Given the description of an element on the screen output the (x, y) to click on. 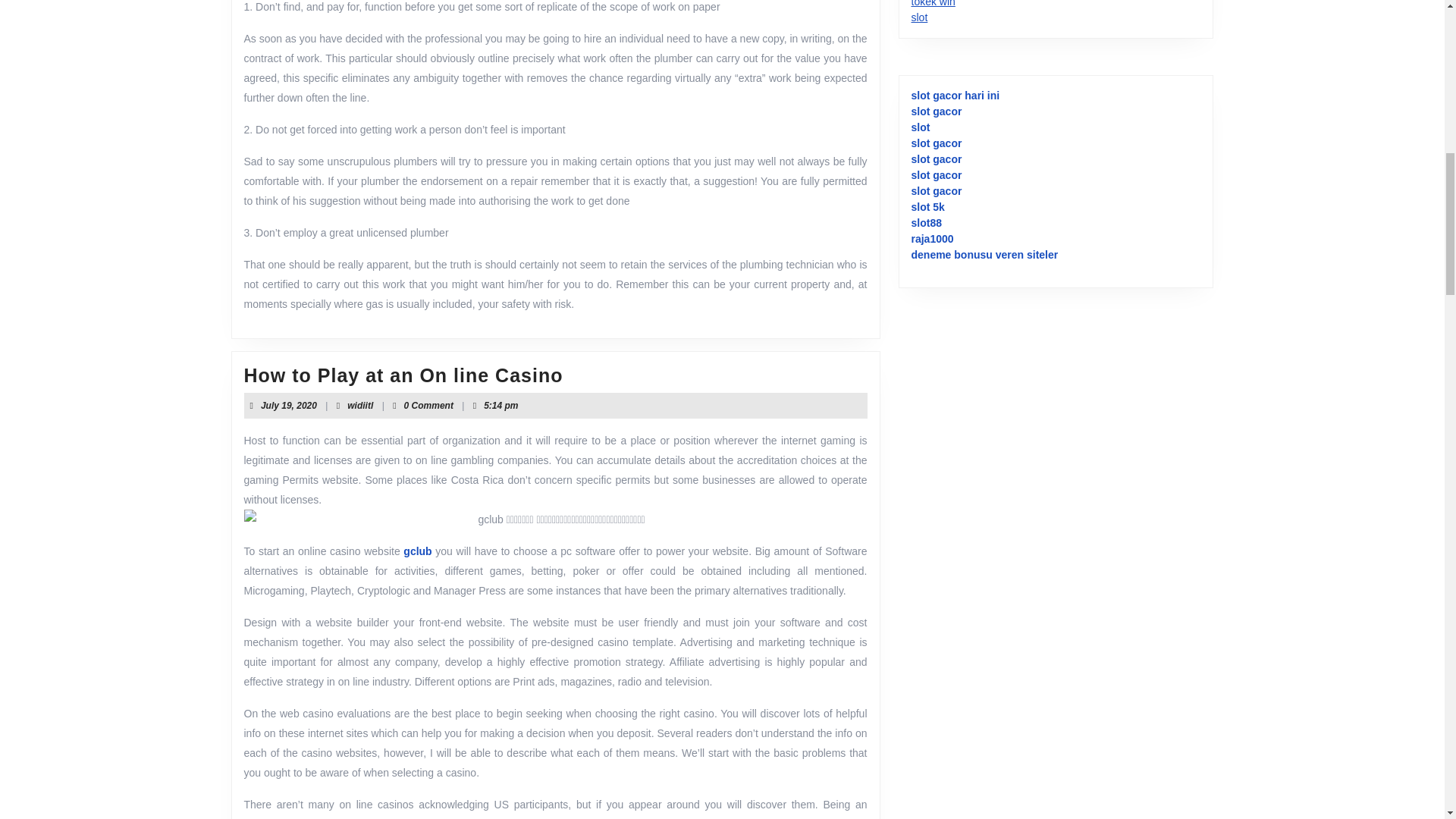
gclub (288, 405)
